Given the description of an element on the screen output the (x, y) to click on. 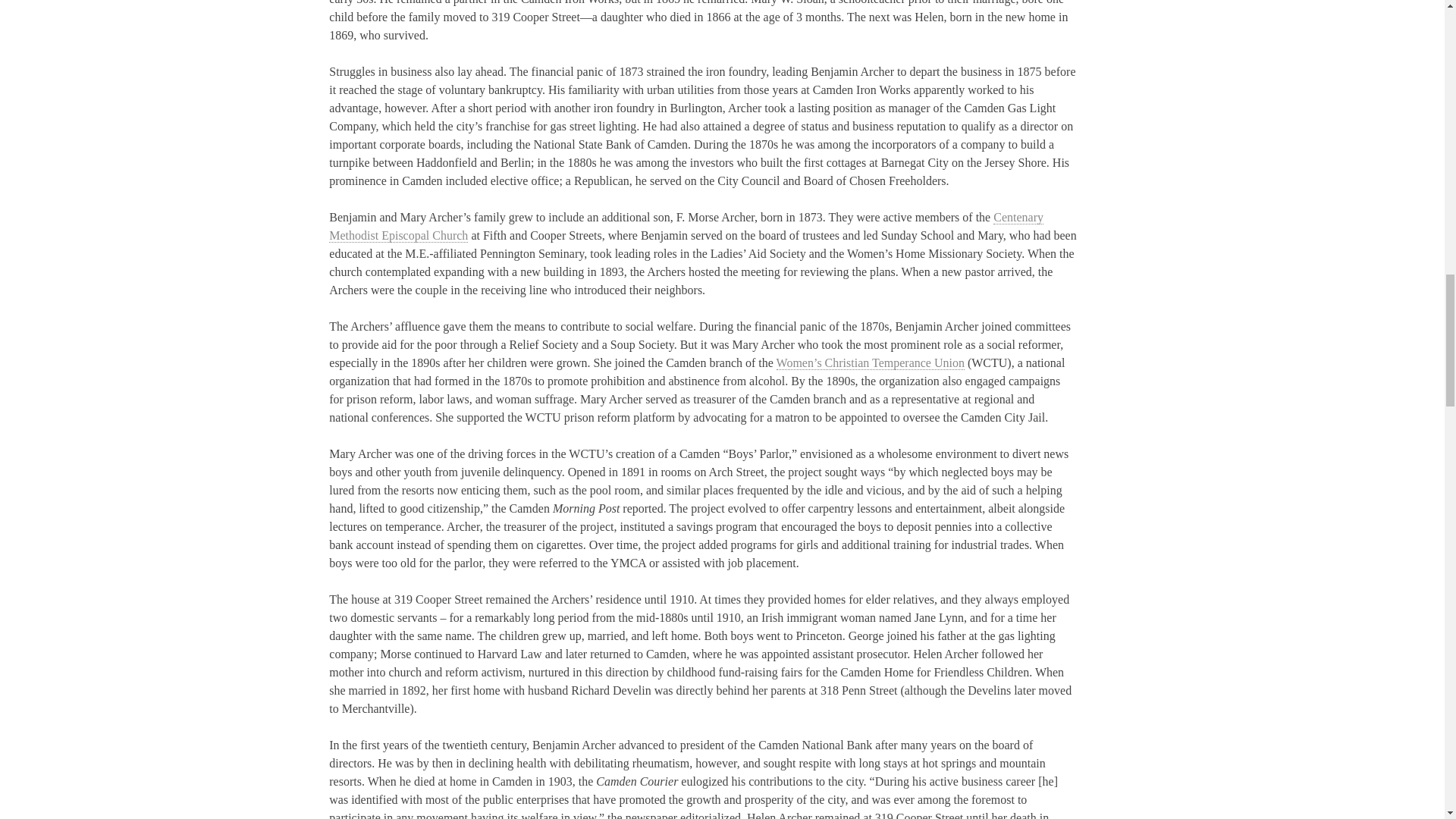
Centenary Methodist Episcopal Church (686, 226)
